Given the description of an element on the screen output the (x, y) to click on. 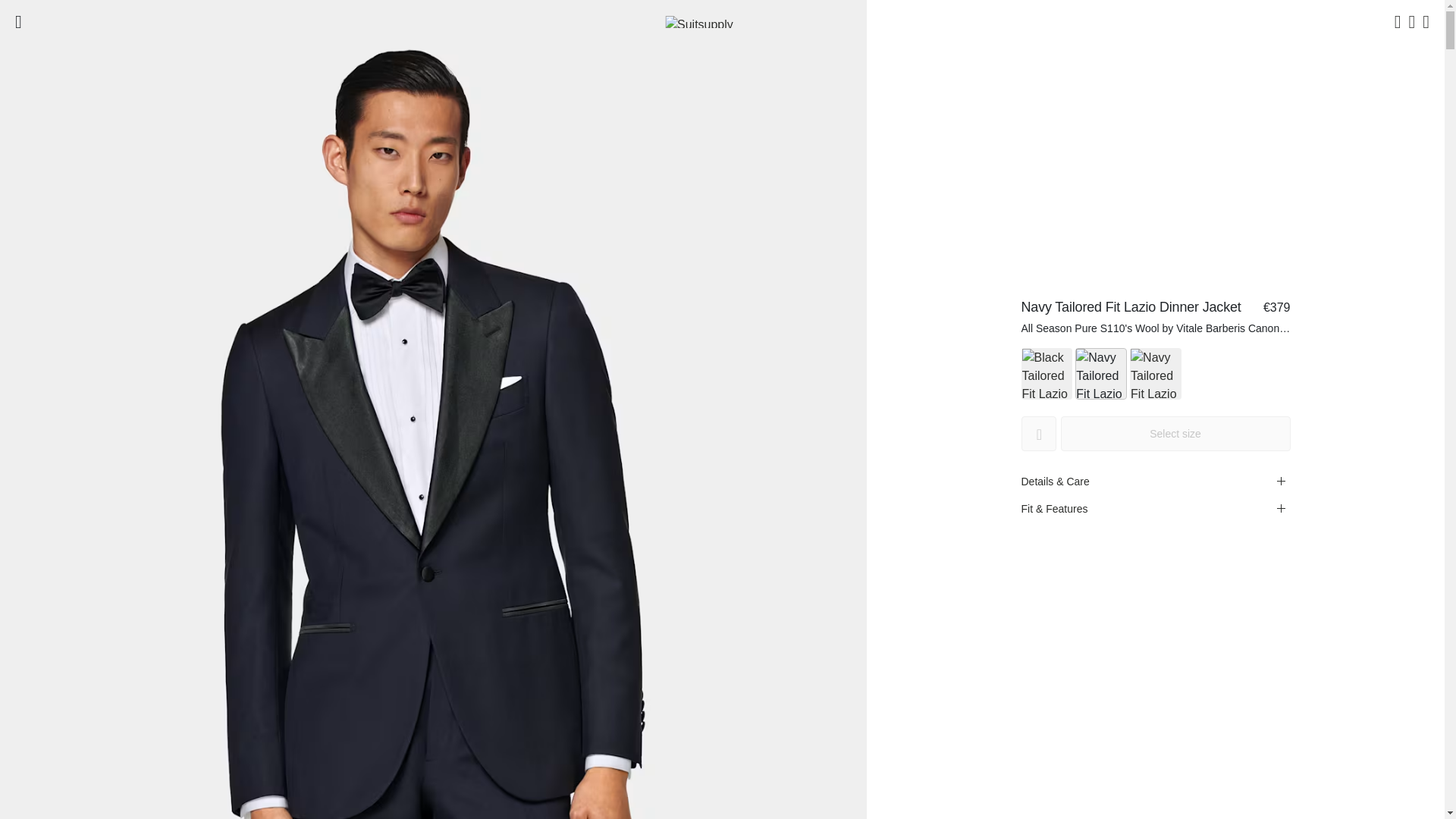
Suitsupply Home (721, 21)
